Given the description of an element on the screen output the (x, y) to click on. 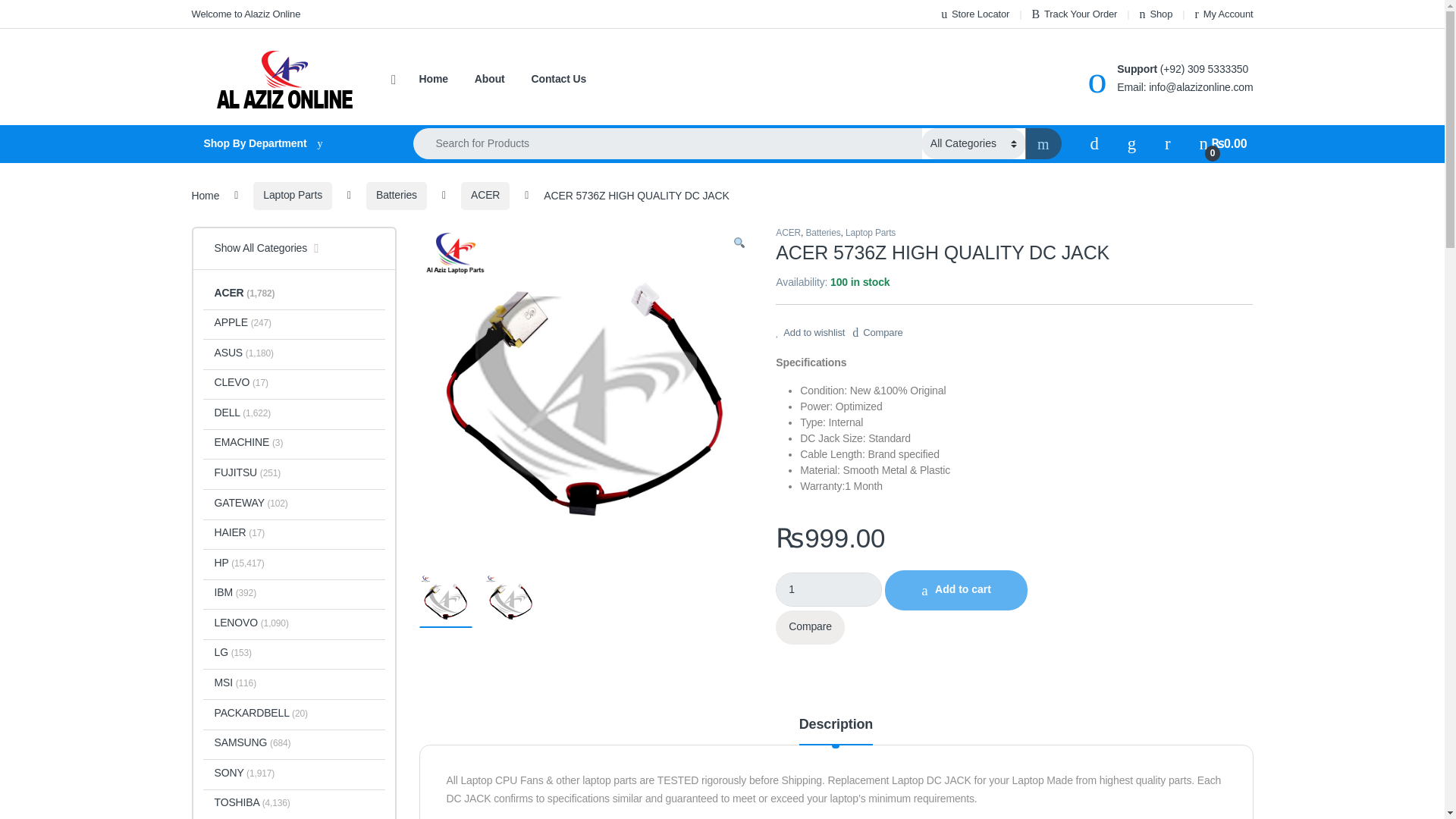
Shop By Department (287, 143)
1 (829, 589)
Store Locator (974, 13)
Track Your Order (1073, 13)
Store Locator (974, 13)
My Account (1224, 13)
Shop (1156, 13)
Contact Us (558, 79)
Welcome to Alaziz Online (244, 13)
My Account (1224, 13)
Shop (1156, 13)
Track Your Order (1073, 13)
Welcome to Alaziz Online (244, 13)
